Given the description of an element on the screen output the (x, y) to click on. 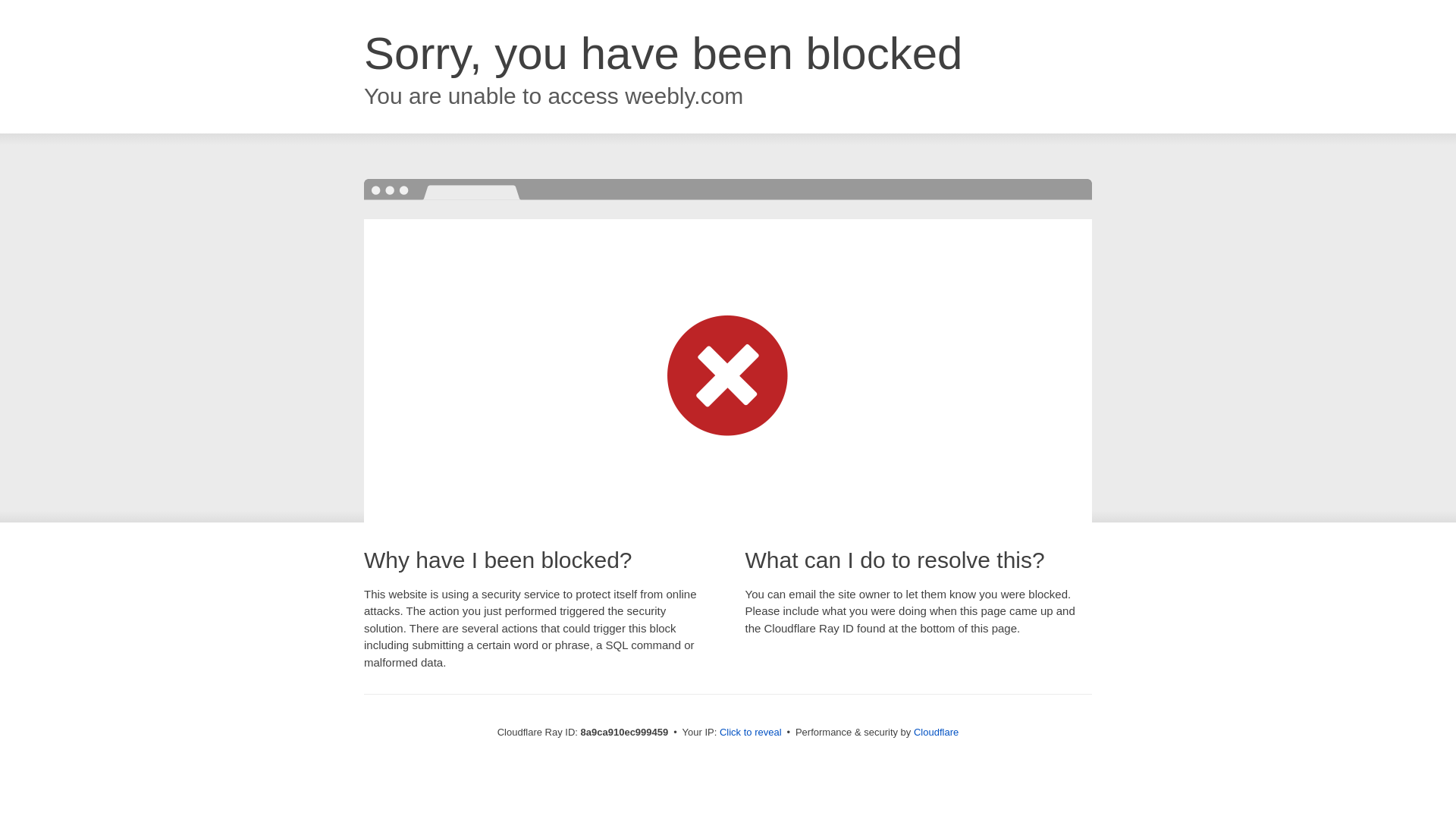
Click to reveal (750, 732)
Cloudflare (936, 731)
